Given the description of an element on the screen output the (x, y) to click on. 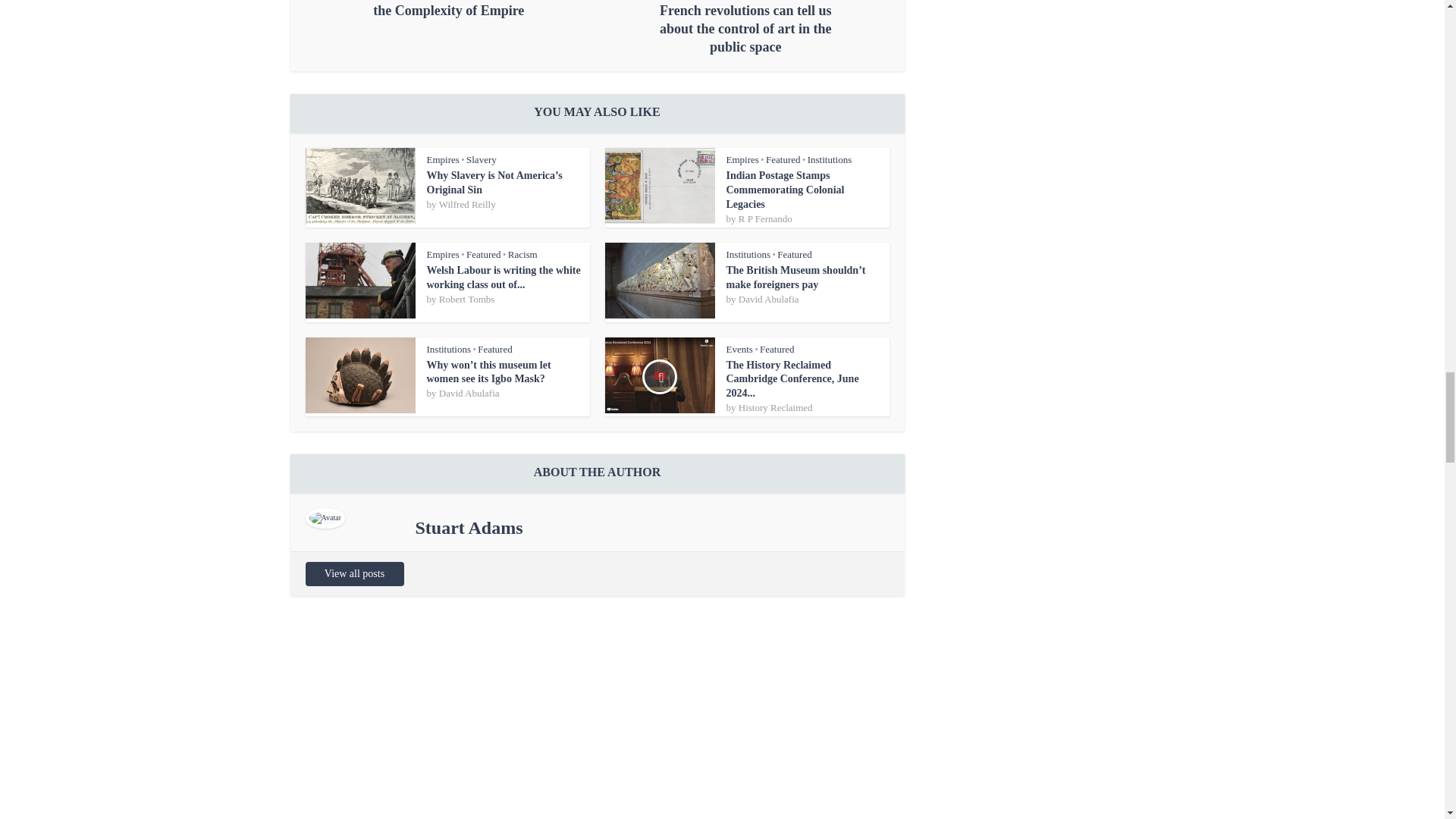
Indian Postage Stamps Commemorating Colonial Legacies (785, 189)
